Given the description of an element on the screen output the (x, y) to click on. 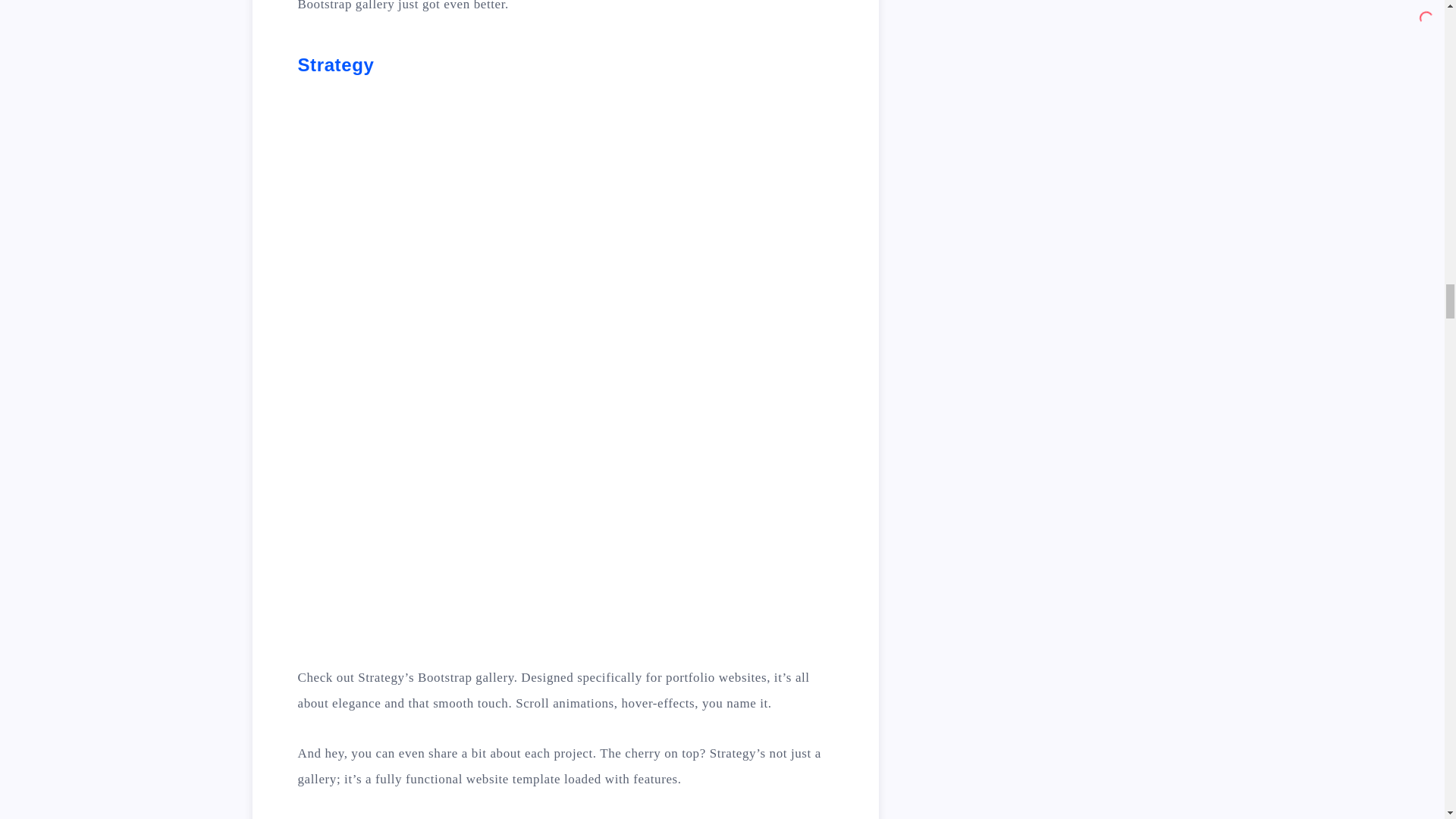
Strategy (335, 64)
